Given the description of an element on the screen output the (x, y) to click on. 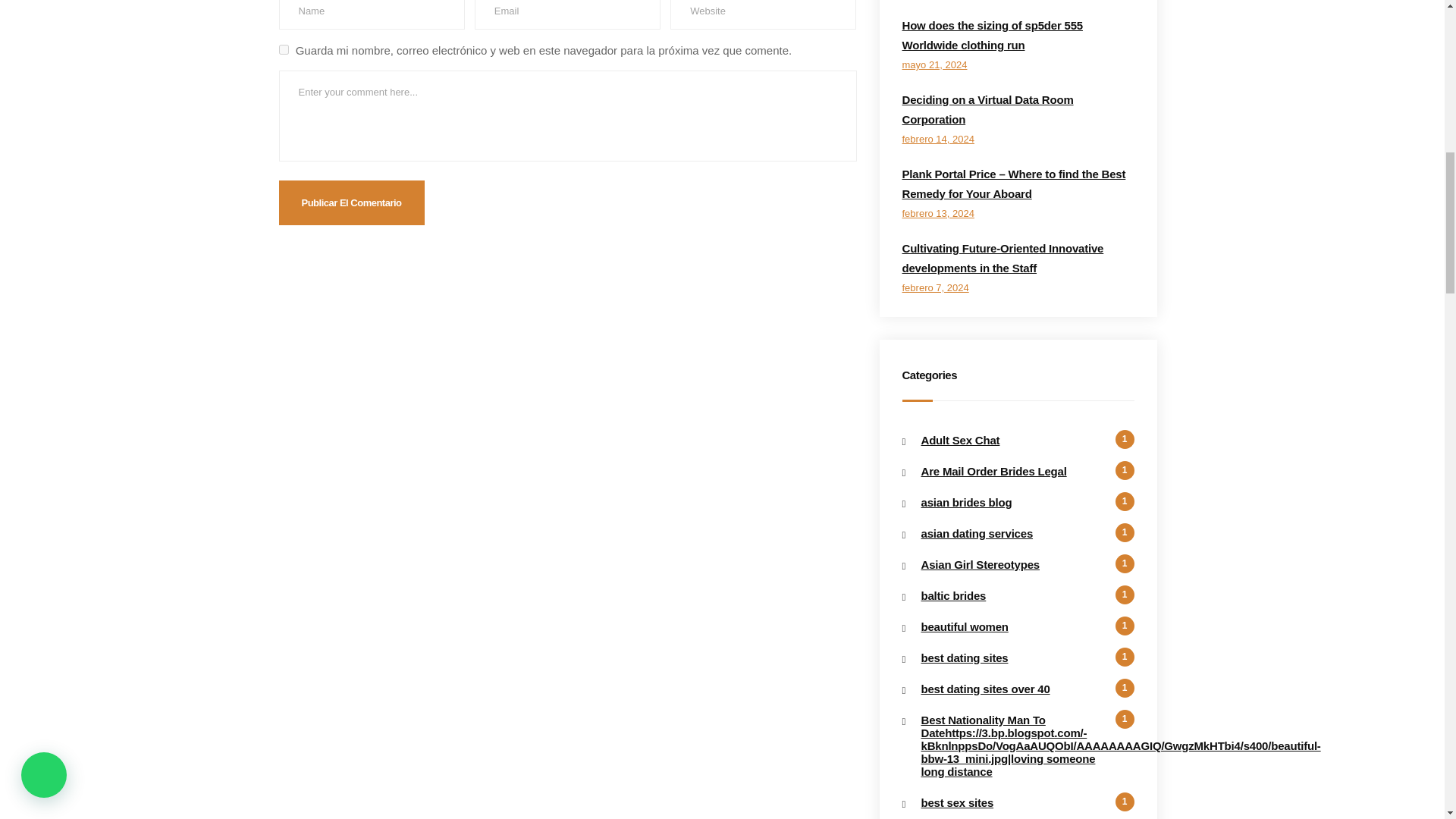
Publicar el comentario (352, 202)
yes (283, 49)
